Given the description of an element on the screen output the (x, y) to click on. 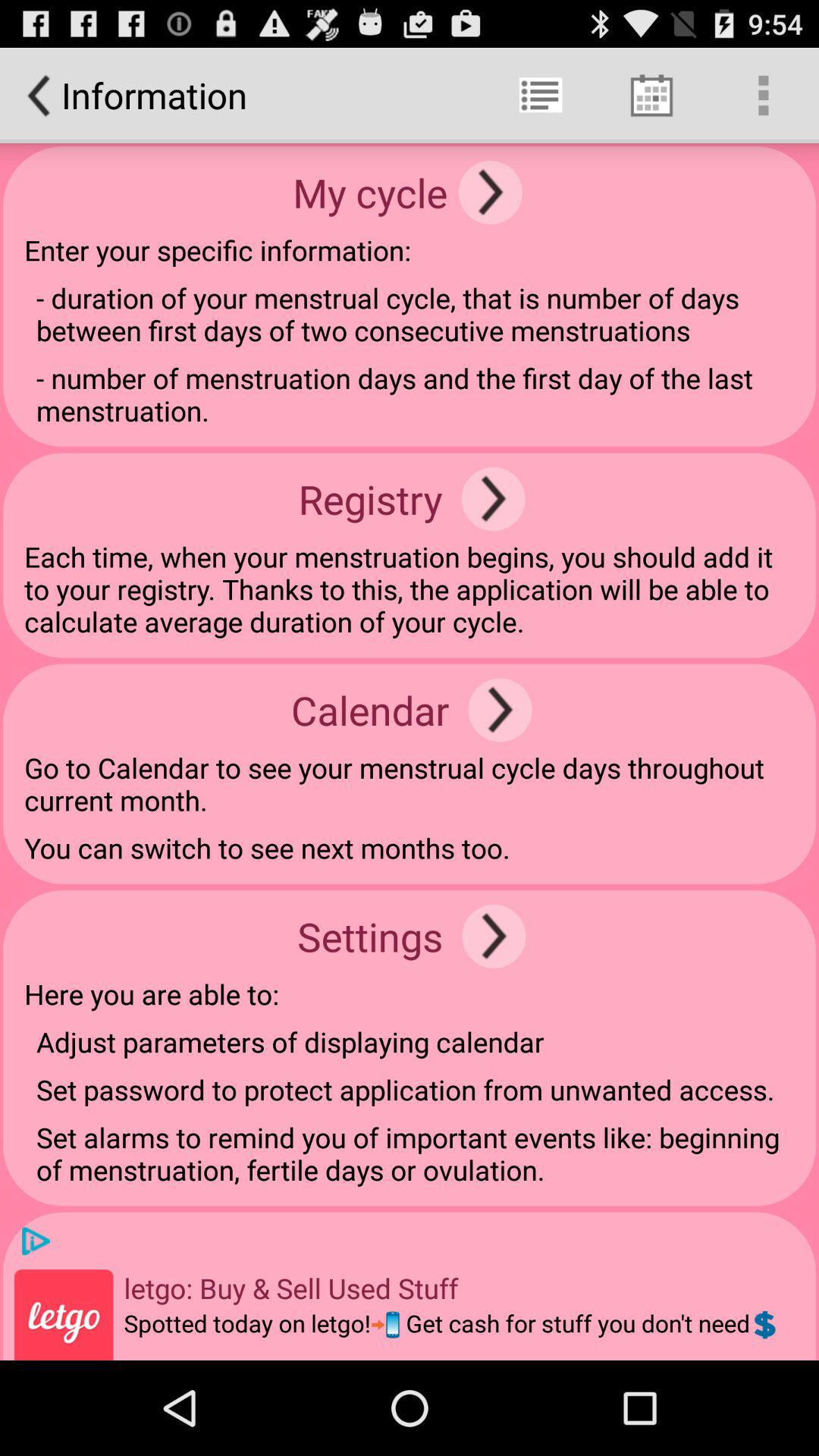
select app next to settings (493, 936)
